Given the description of an element on the screen output the (x, y) to click on. 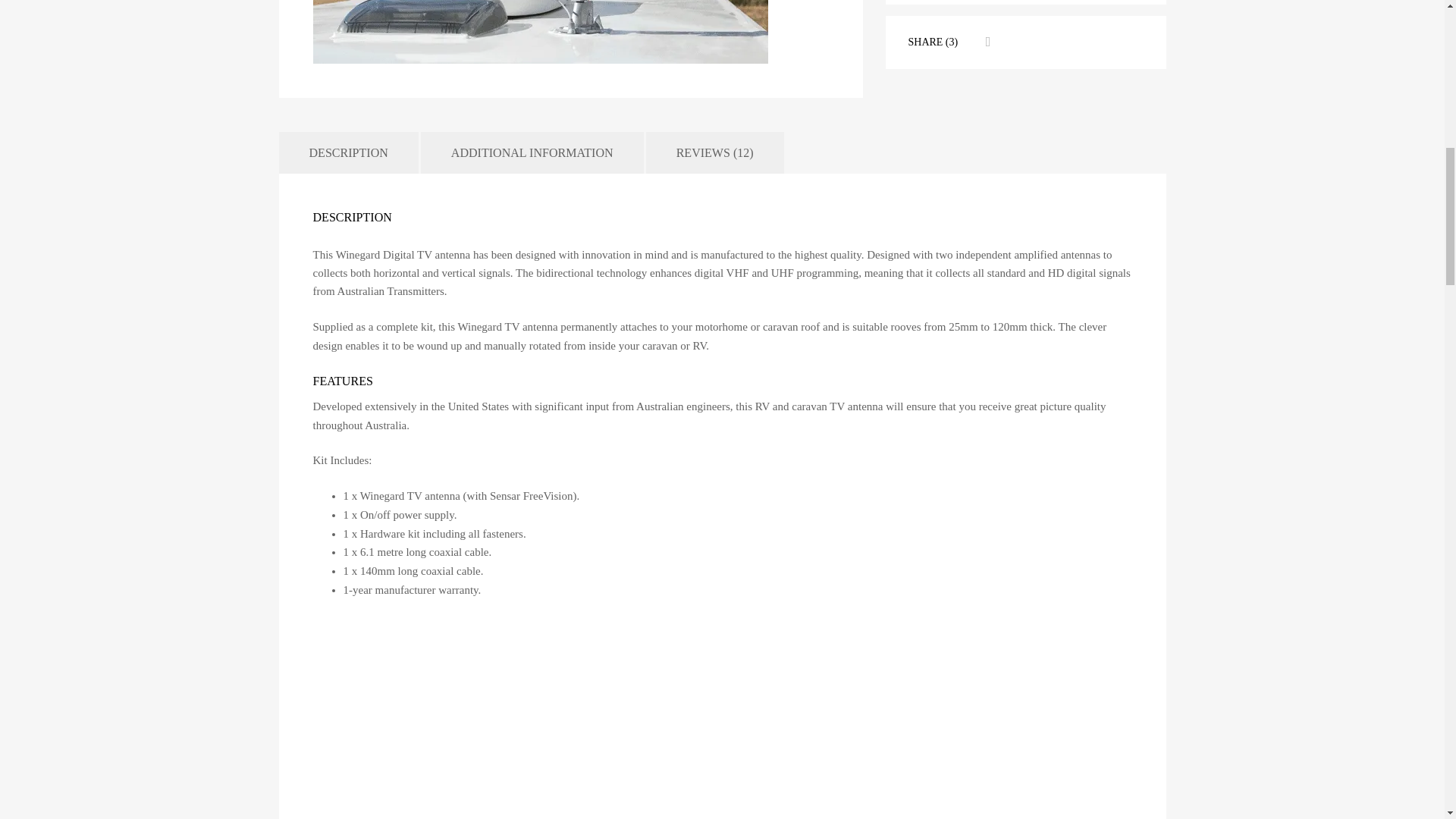
Share this article on Facebook (985, 41)
winegard.png (540, 31)
